Given the description of an element on the screen output the (x, y) to click on. 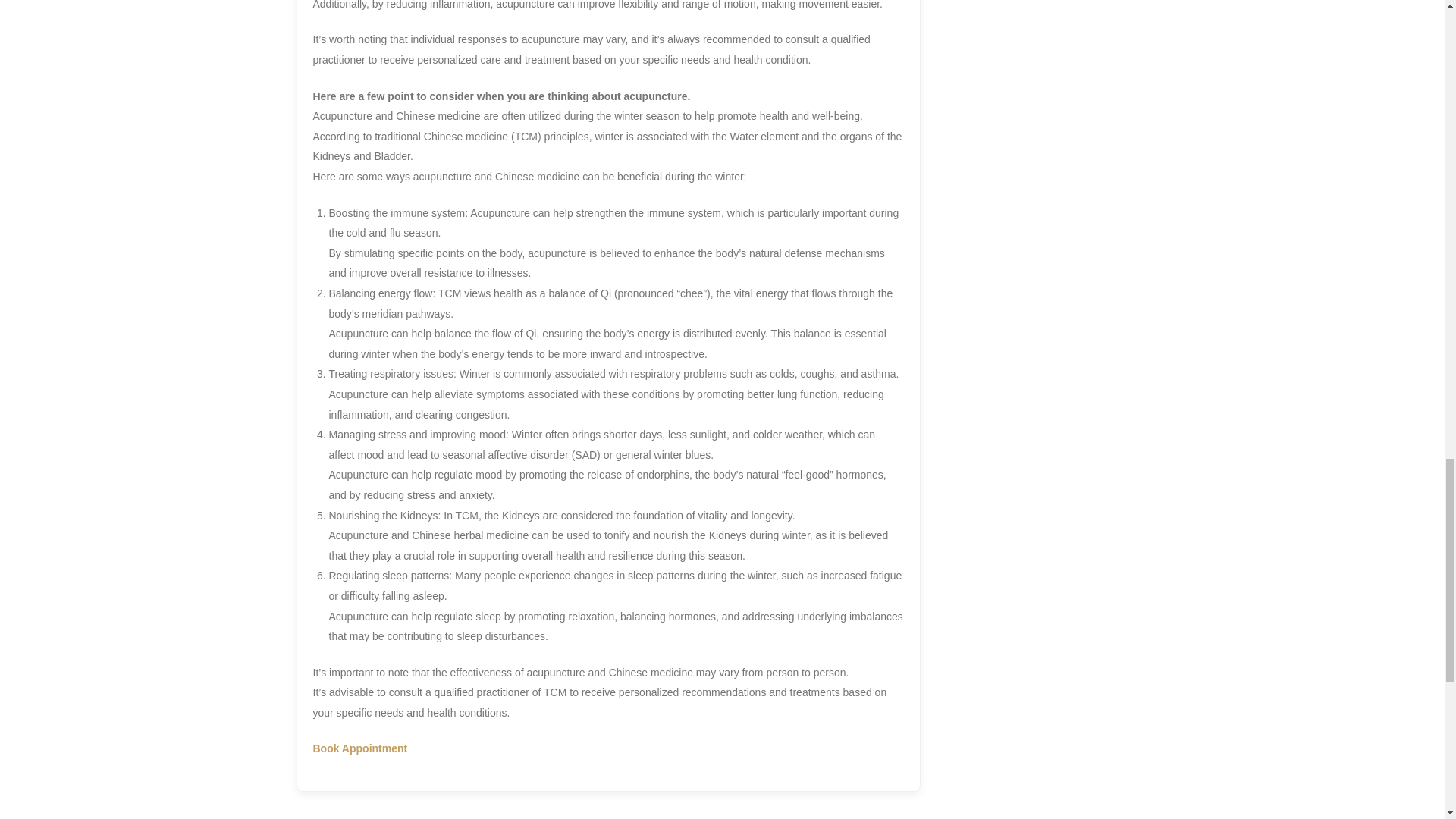
Book Appointment (360, 748)
